Given the description of an element on the screen output the (x, y) to click on. 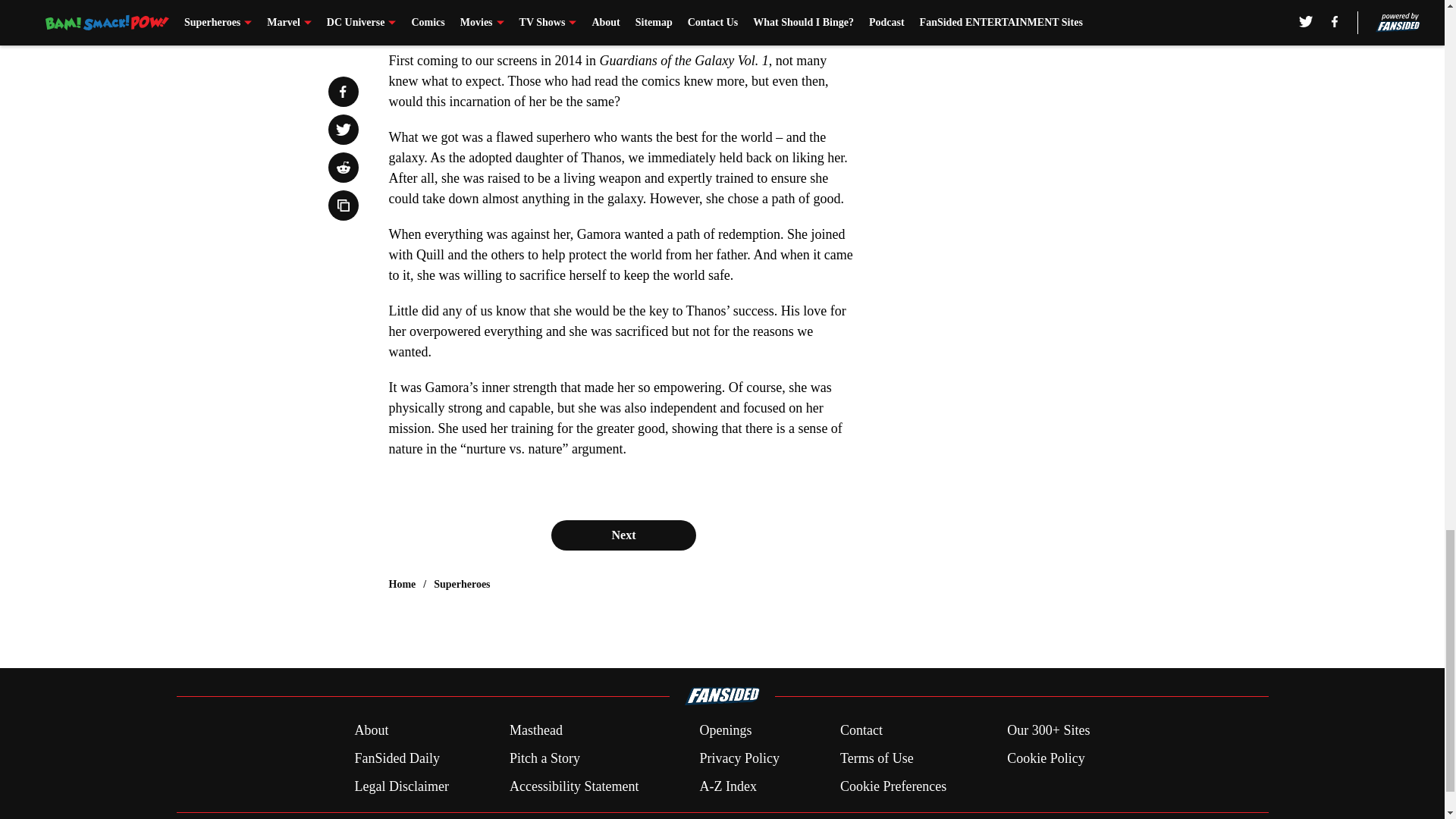
Home (401, 584)
Next (622, 535)
